Given the description of an element on the screen output the (x, y) to click on. 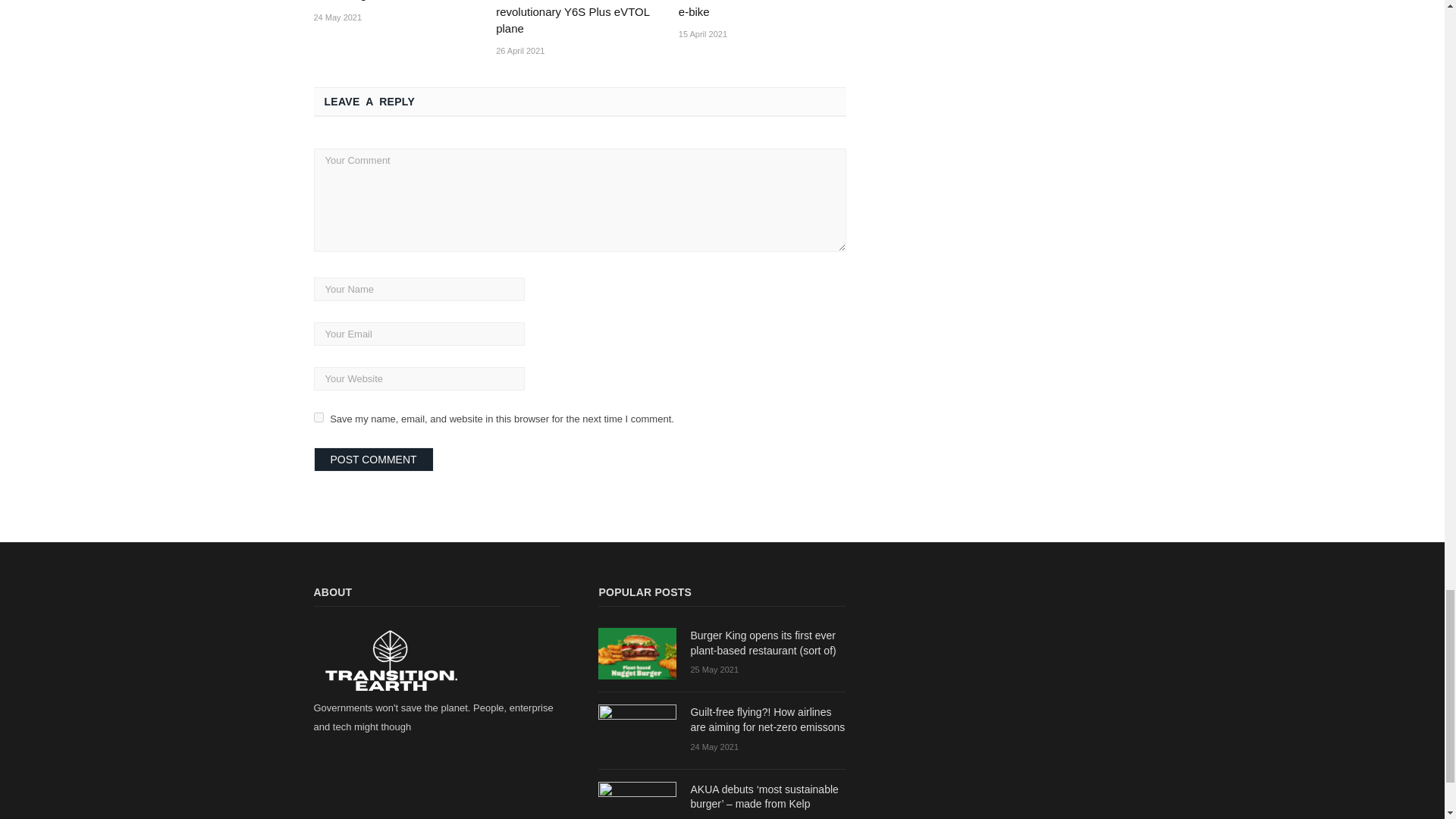
yes (318, 417)
Post Comment (373, 459)
